Given the description of an element on the screen output the (x, y) to click on. 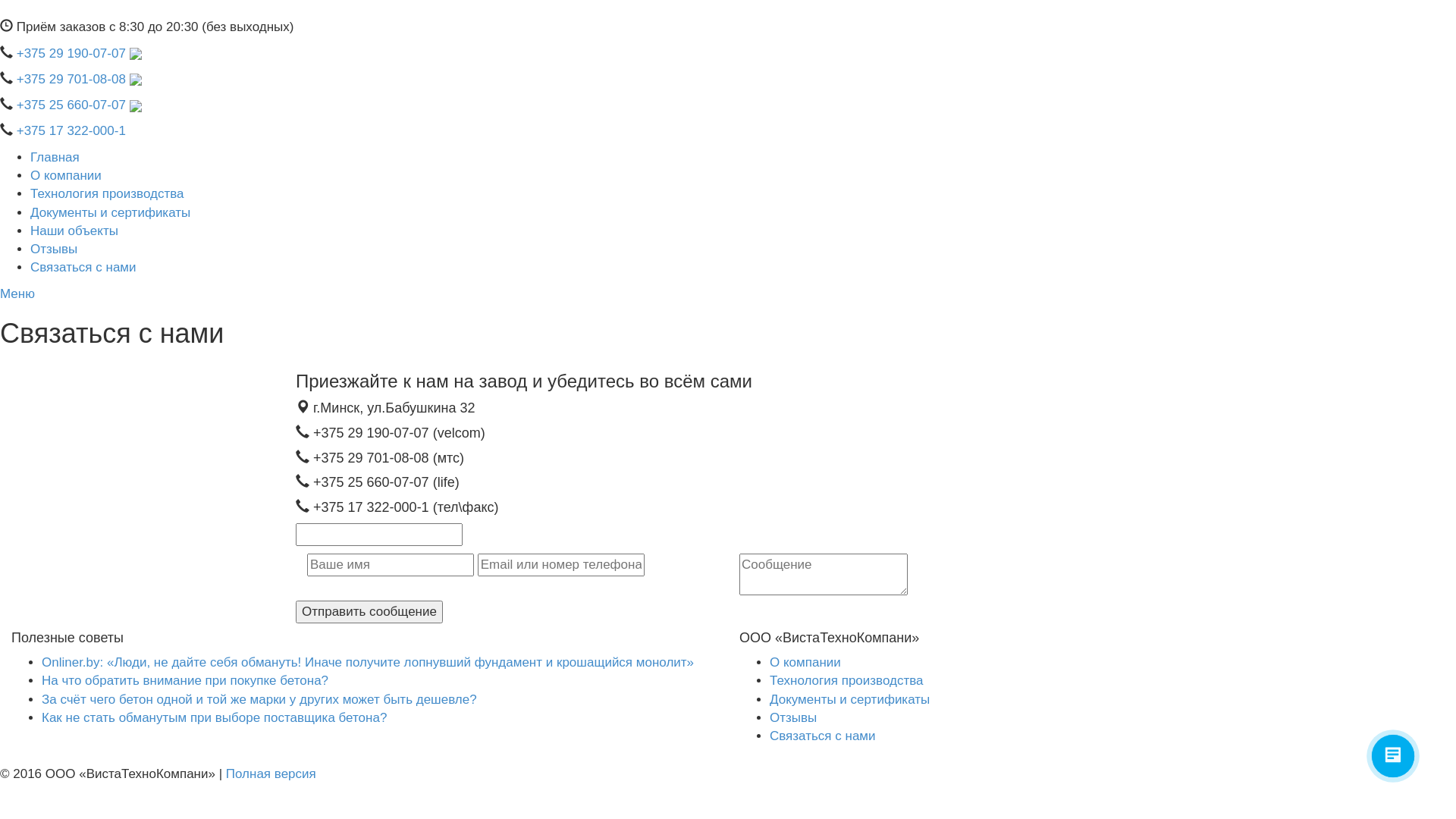
+375 29 190-07-07 Element type: text (78, 53)
+375 17 322-000-1 Element type: text (70, 130)
+375 25 660-07-07 Element type: text (78, 104)
+375 29 701-08-08 Element type: text (78, 79)
